Given the description of an element on the screen output the (x, y) to click on. 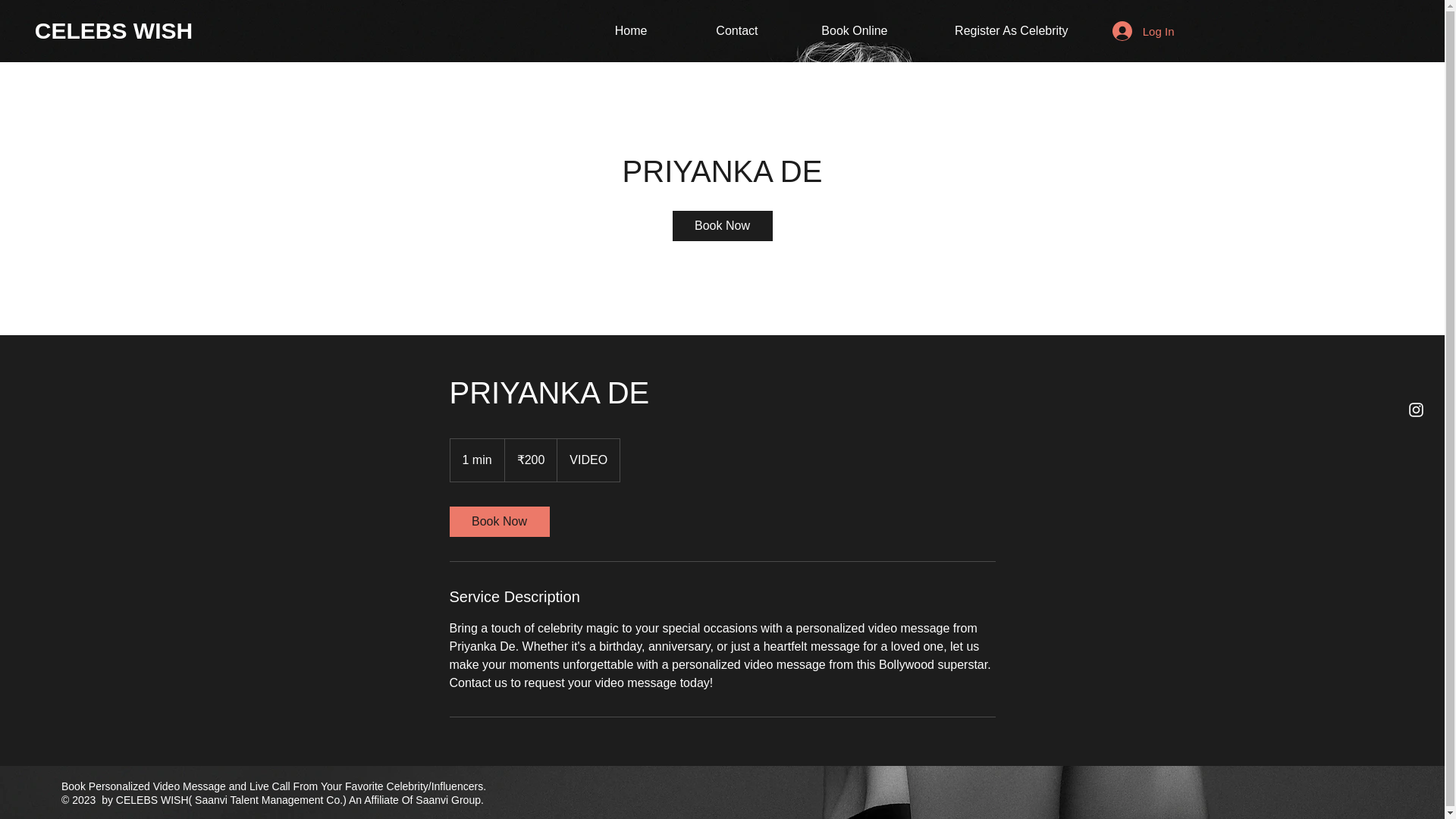
Book Online (833, 30)
Contact (713, 30)
Book Now (498, 521)
Book Now (721, 225)
CELEBS WISH (113, 30)
Register As Celebrity (989, 30)
Log In (1143, 30)
Home (610, 30)
